Given the description of an element on the screen output the (x, y) to click on. 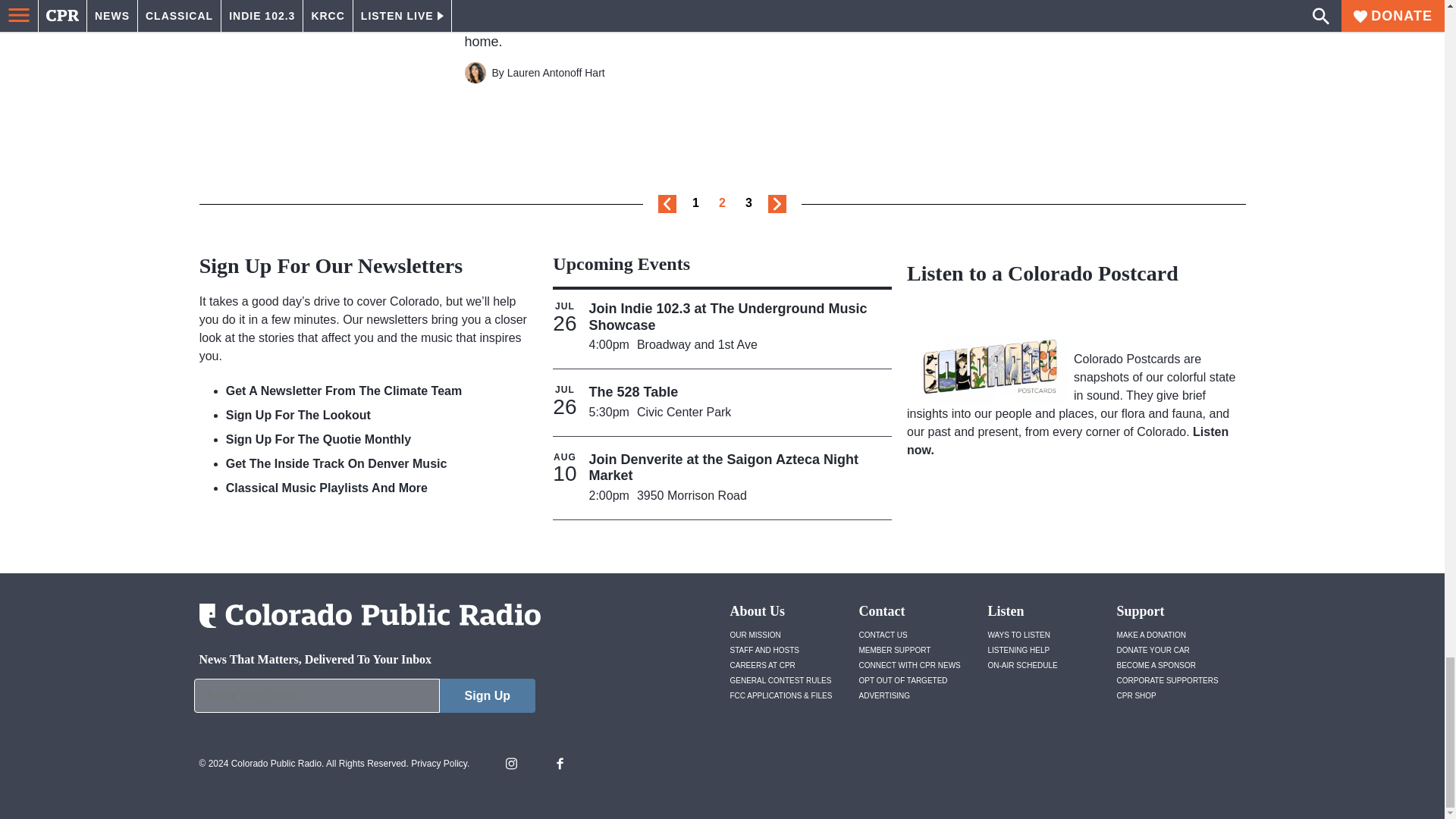
footer (364, 699)
